Given the description of an element on the screen output the (x, y) to click on. 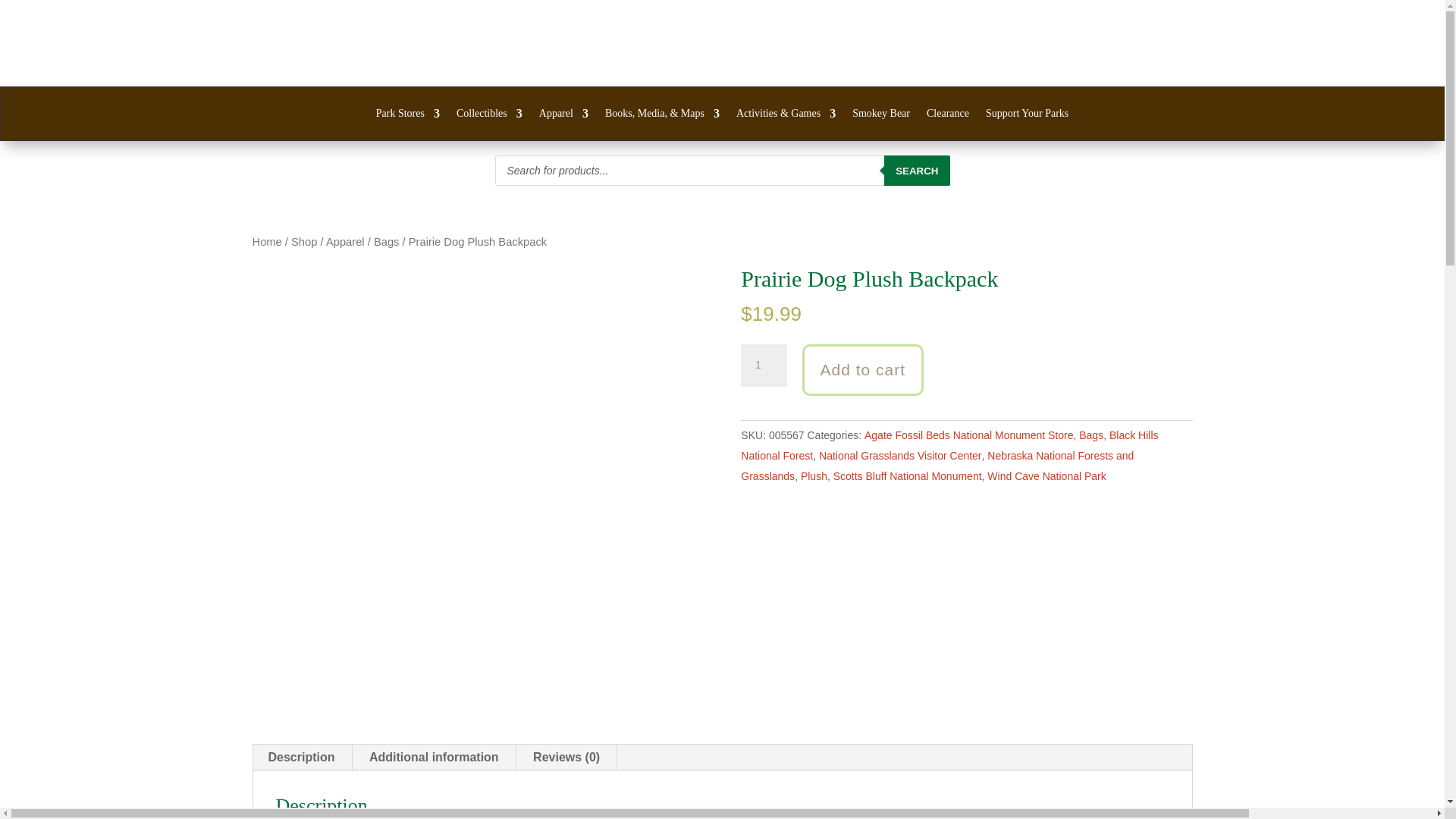
EVENTS (1110, 61)
SHOP NOW (1334, 61)
ABOUT US (784, 61)
EDUCATION HUB (1218, 61)
PARTNERS (880, 61)
WAYS TO SUPPORT (999, 61)
1 (763, 364)
